Given the description of an element on the screen output the (x, y) to click on. 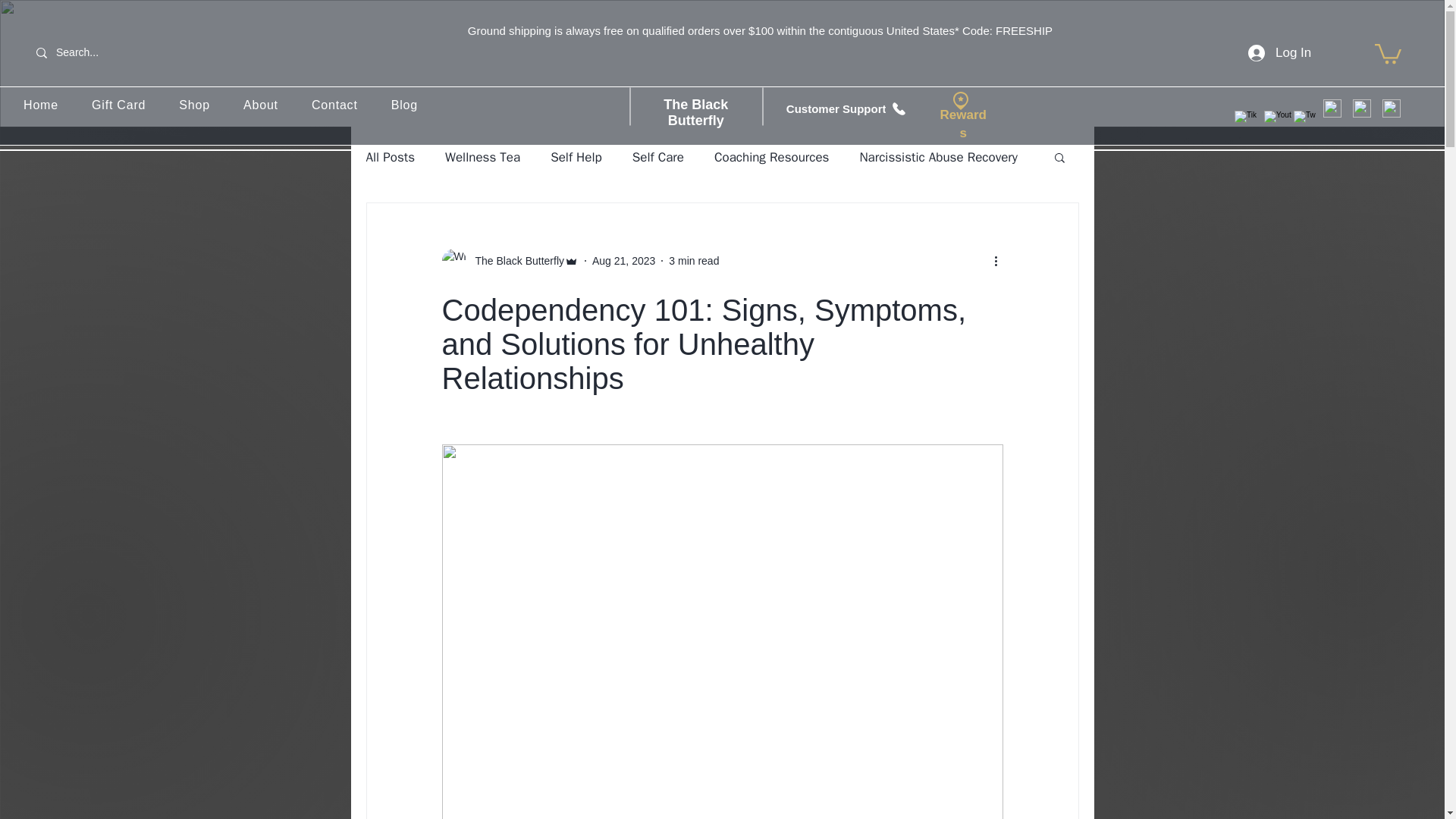
Customer Support (856, 108)
Rewards (963, 123)
Contact (334, 104)
The Black Butterfly (514, 261)
3 min read (693, 260)
Aug 21, 2023 (623, 260)
All Posts (389, 157)
Self Help (576, 157)
Log In (1275, 52)
About (261, 104)
